Given the description of an element on the screen output the (x, y) to click on. 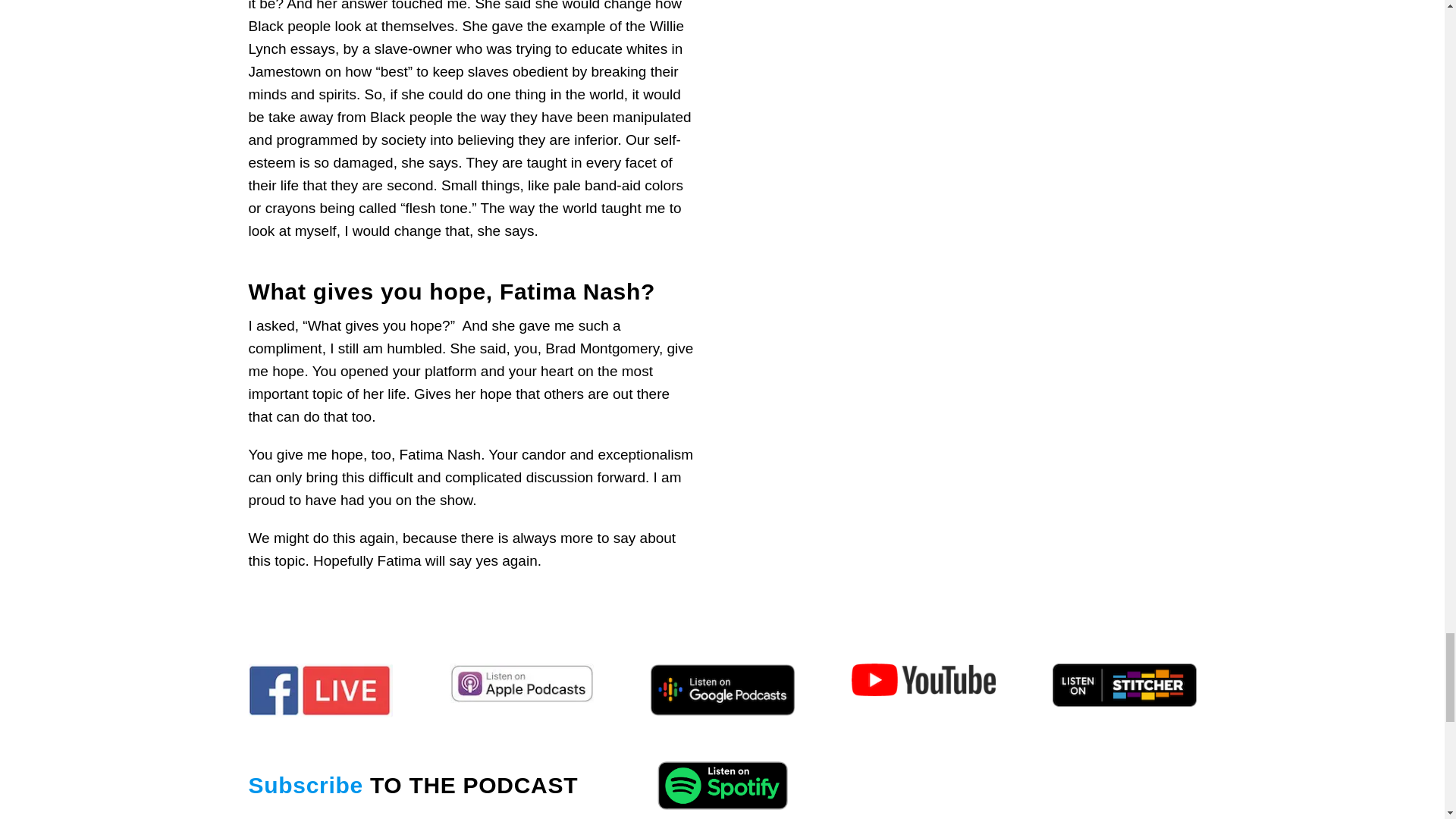
spotify (722, 784)
listen-on-Stitcher-badge (1124, 684)
apple-podcasts (520, 682)
Unknown (722, 689)
